Given the description of an element on the screen output the (x, y) to click on. 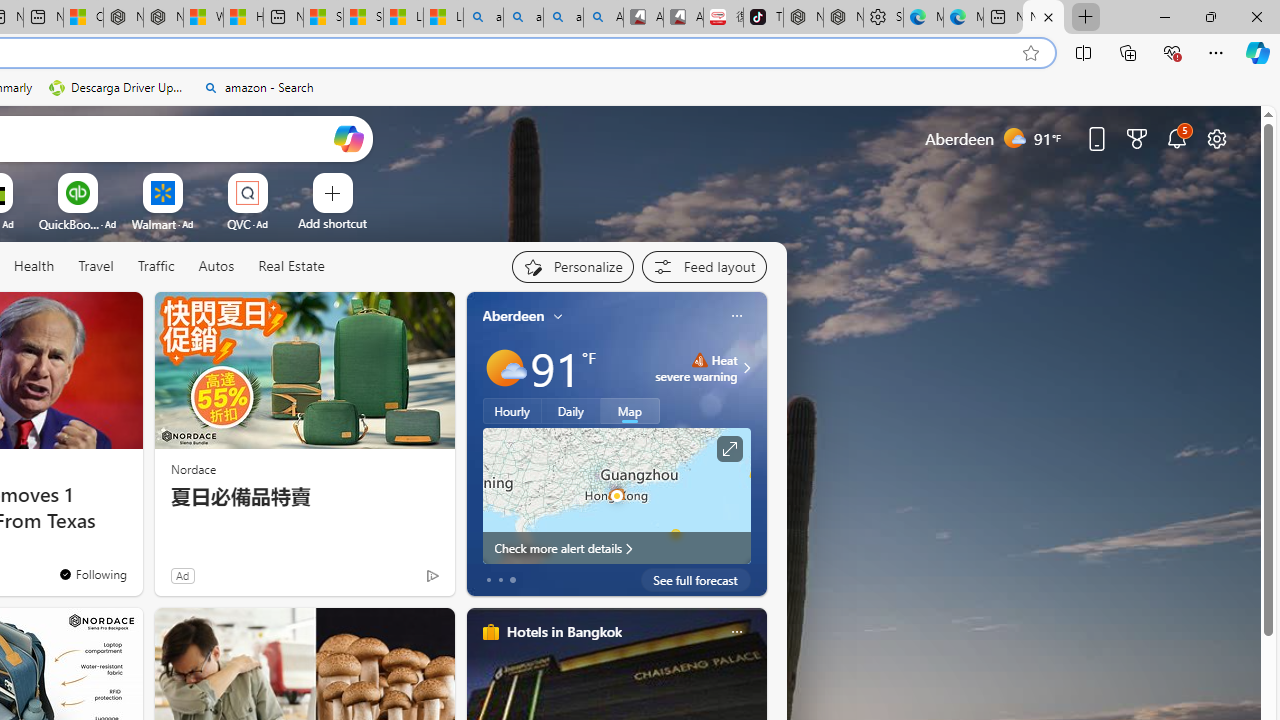
Click to see more information (728, 449)
Mostly sunny (504, 368)
Mostly sunny (504, 368)
Microsoft rewards (1137, 138)
TikTok (763, 17)
All Cubot phones (683, 17)
See full forecast (695, 579)
Map (630, 411)
Daily (571, 411)
Travel (95, 265)
Class: weather-arrow-glyph (746, 367)
